Given the description of an element on the screen output the (x, y) to click on. 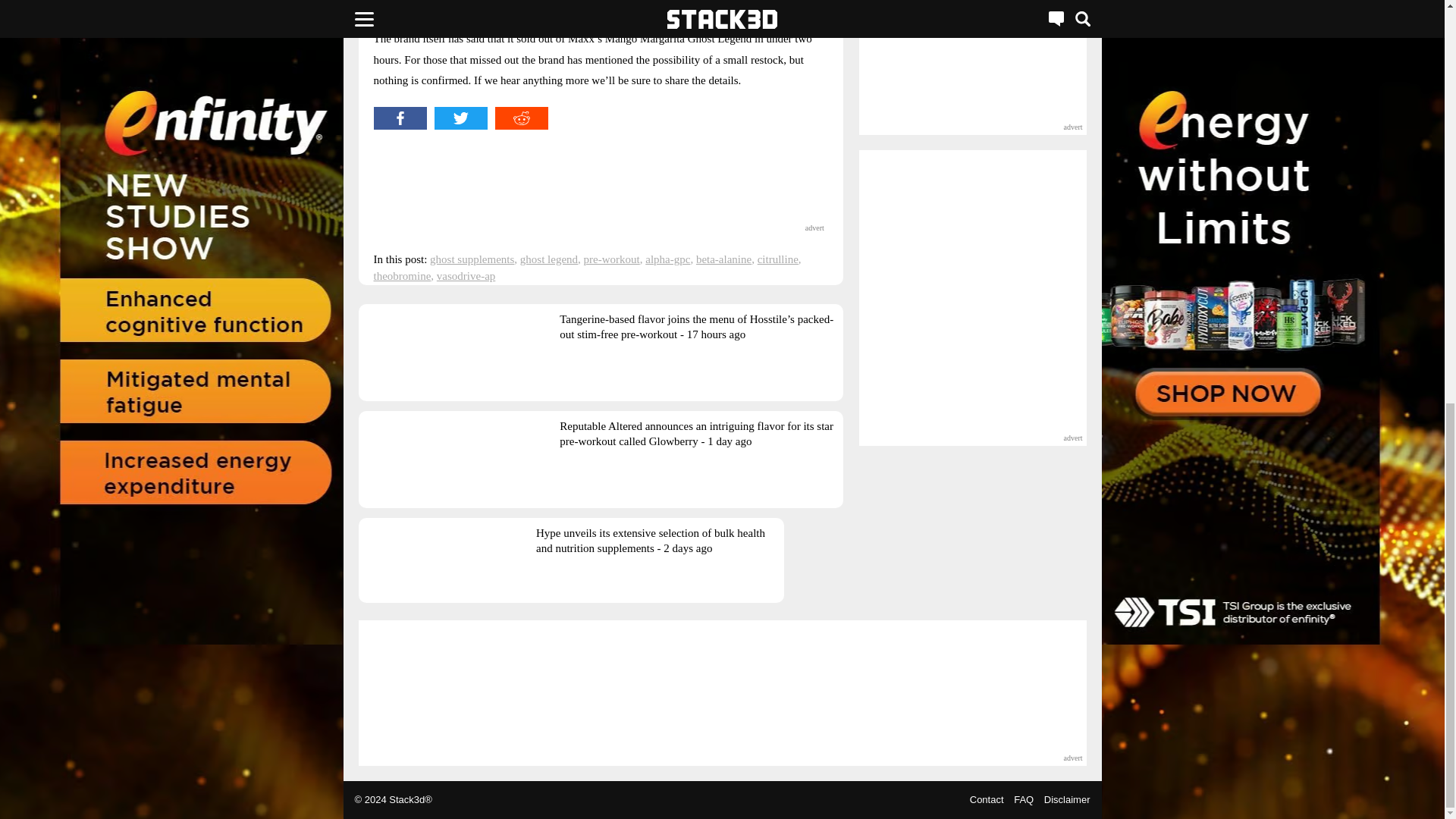
ghost supplements (471, 259)
